Given the description of an element on the screen output the (x, y) to click on. 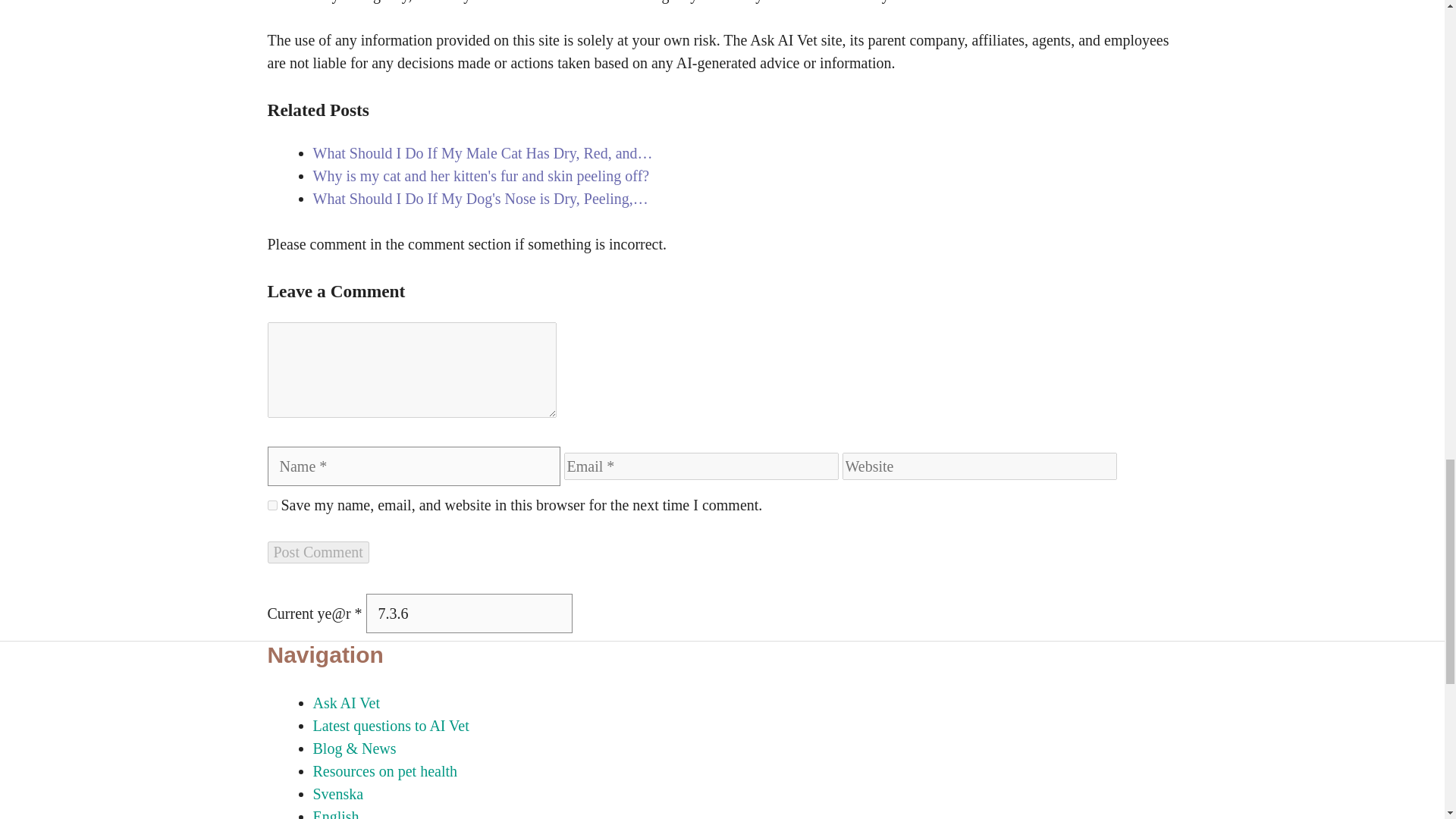
7.3.6 (469, 613)
English (335, 813)
Latest questions to AI Vet (390, 725)
Why is my cat and her kitten's fur and skin peeling off? (481, 175)
Post Comment (317, 552)
Post Comment (317, 552)
Ask AI Vet (346, 702)
Svenska (337, 793)
yes (271, 505)
Resources on pet health (385, 770)
